Given the description of an element on the screen output the (x, y) to click on. 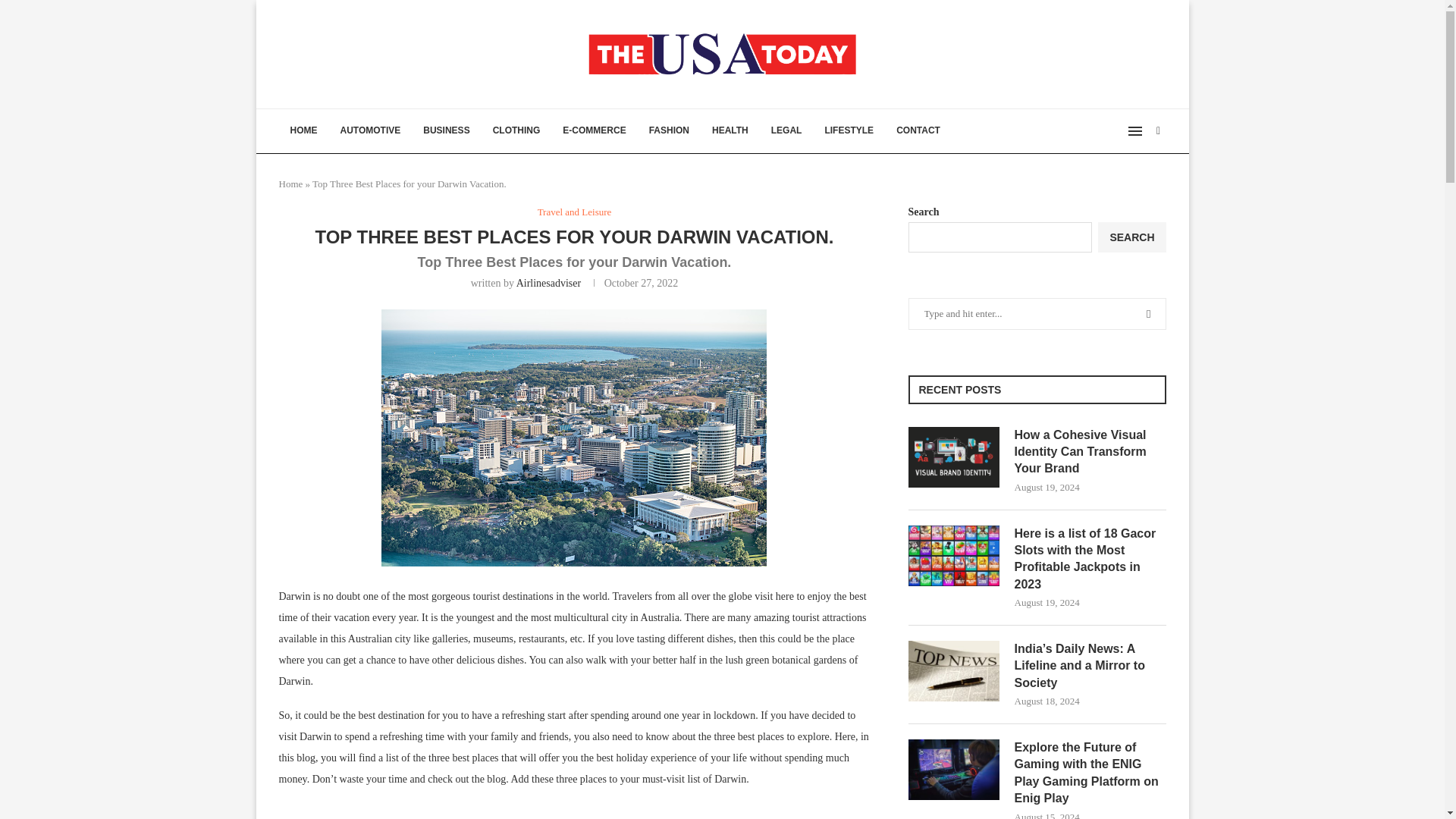
AUTOMOTIVE (370, 130)
CONTACT (918, 130)
HEALTH (730, 130)
HOME (304, 130)
Airlinesadviser (548, 283)
FASHION (668, 130)
How a Cohesive Visual Identity Can Transform Your Brand (953, 456)
LIFESTYLE (848, 130)
How a Cohesive Visual Identity Can Transform Your Brand (1090, 451)
